Given the description of an element on the screen output the (x, y) to click on. 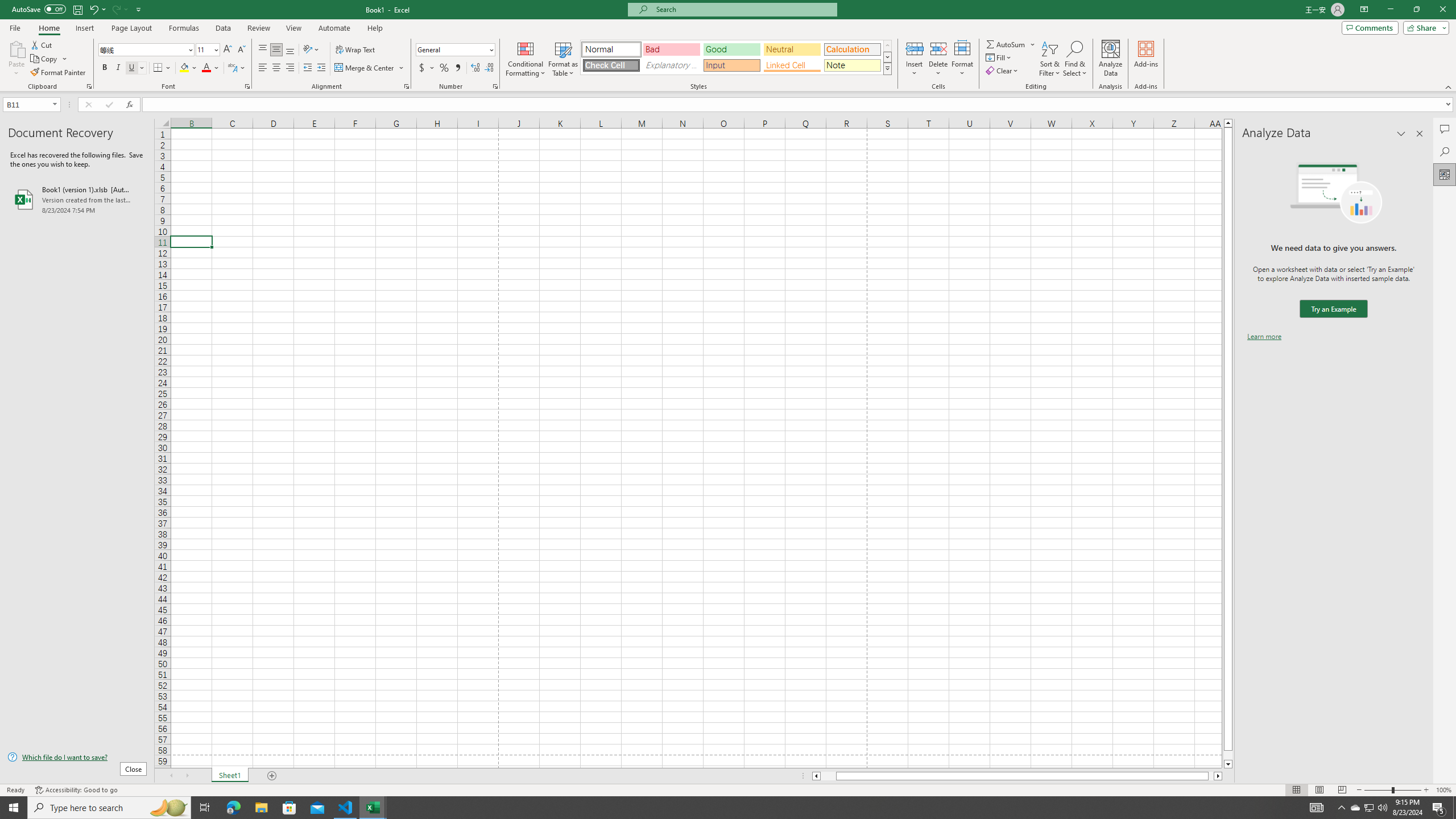
Align Right (290, 67)
AutomationID: CellStylesGallery (736, 57)
Paste (16, 58)
Underline (131, 67)
Font Size (204, 49)
Increase Font Size (227, 49)
Calculation (852, 49)
